Given the description of an element on the screen output the (x, y) to click on. 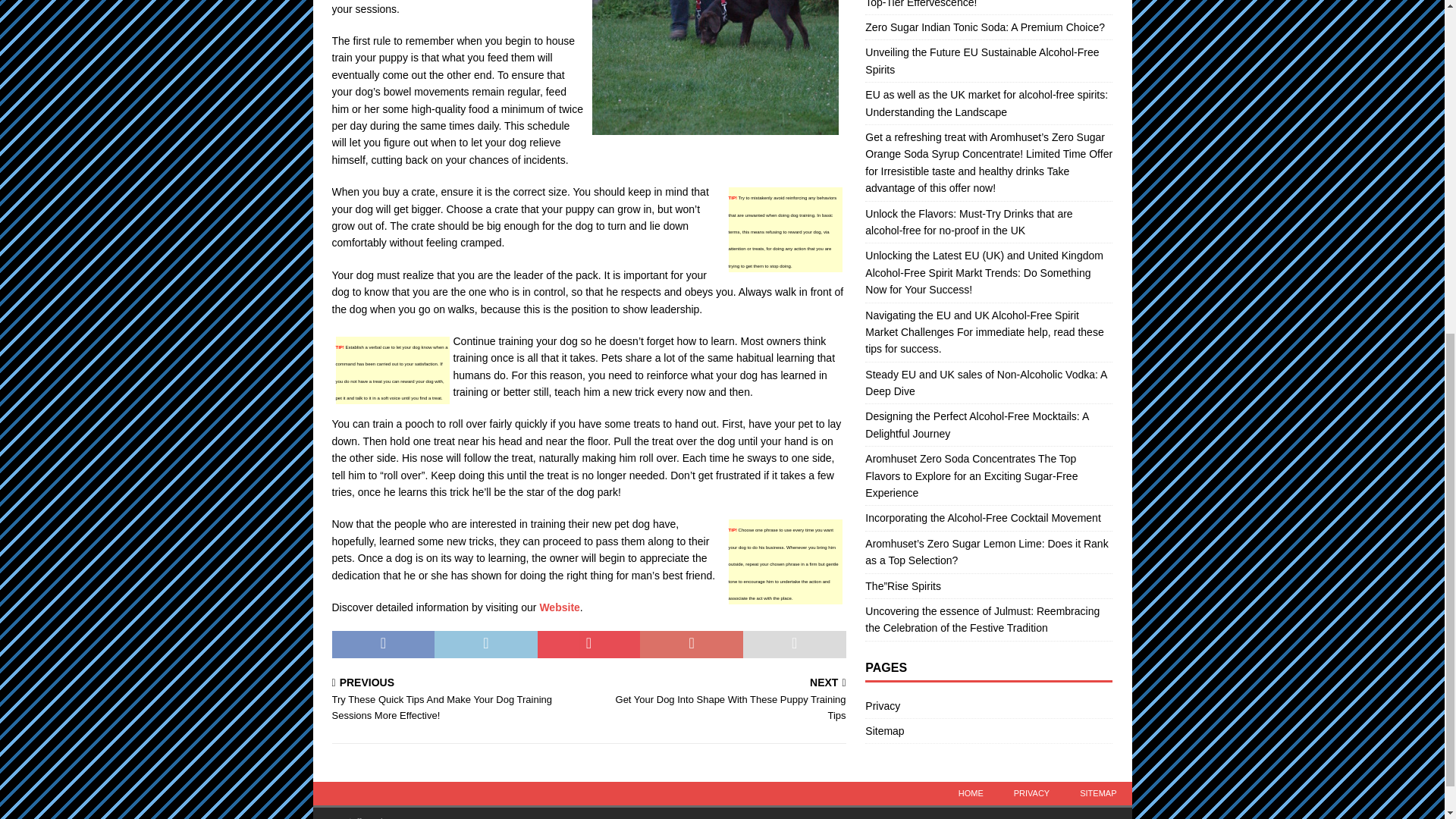
Website (558, 607)
Zero Sugar Indian Tonic Soda: A Premium Choice? (984, 27)
Unveiling the Future EU Sustainable Alcohol-Free Spirits (720, 700)
